Given the description of an element on the screen output the (x, y) to click on. 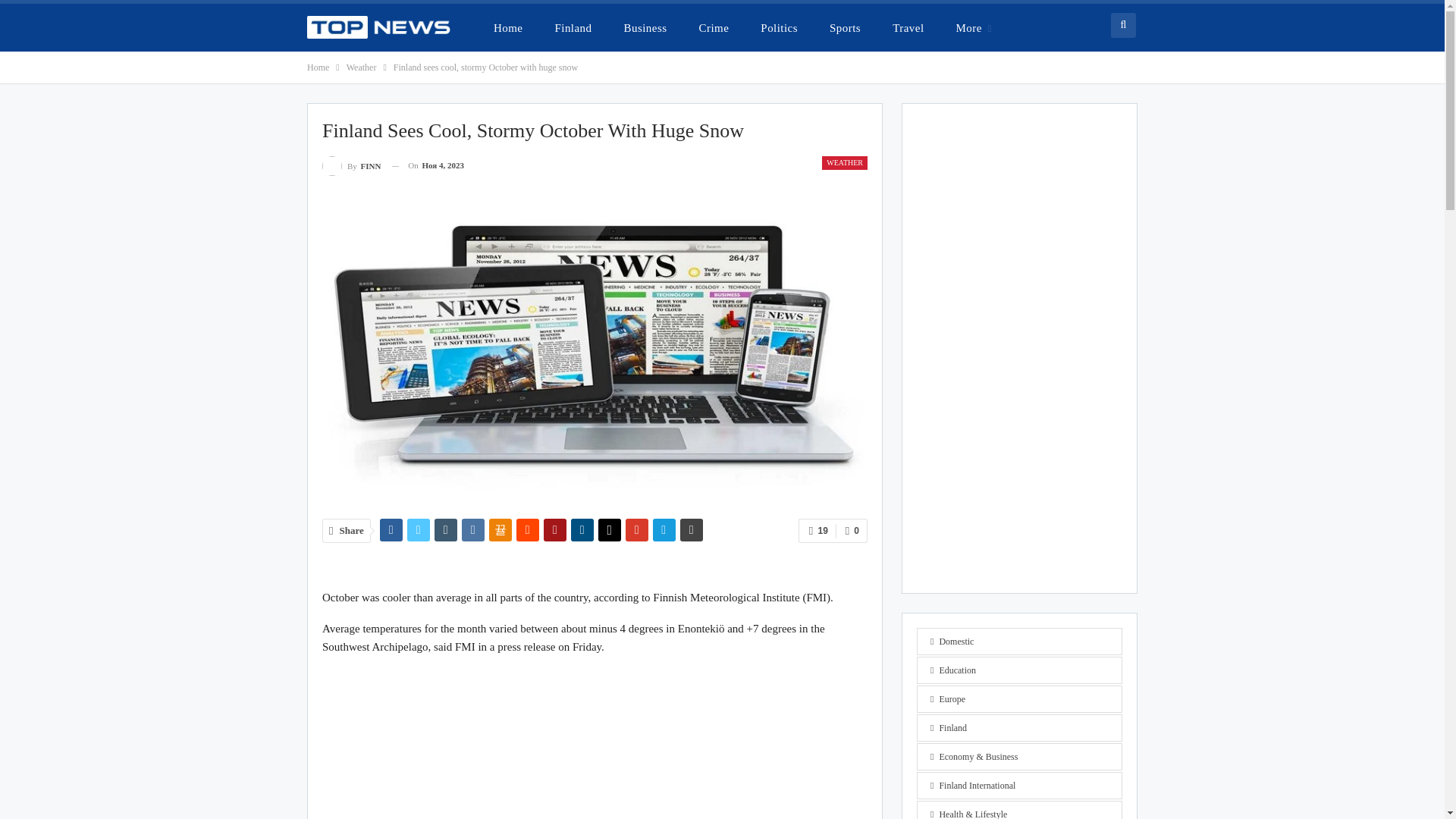
Home (318, 67)
By FINN (350, 165)
Browse Author Articles (350, 165)
Advertisement (594, 744)
Sports (844, 27)
Finland (572, 27)
WEATHER (844, 162)
0 (851, 530)
More (973, 27)
Crime (714, 27)
Business (645, 27)
Politics (778, 27)
Home (508, 27)
Travel (908, 27)
Weather (361, 67)
